Given the description of an element on the screen output the (x, y) to click on. 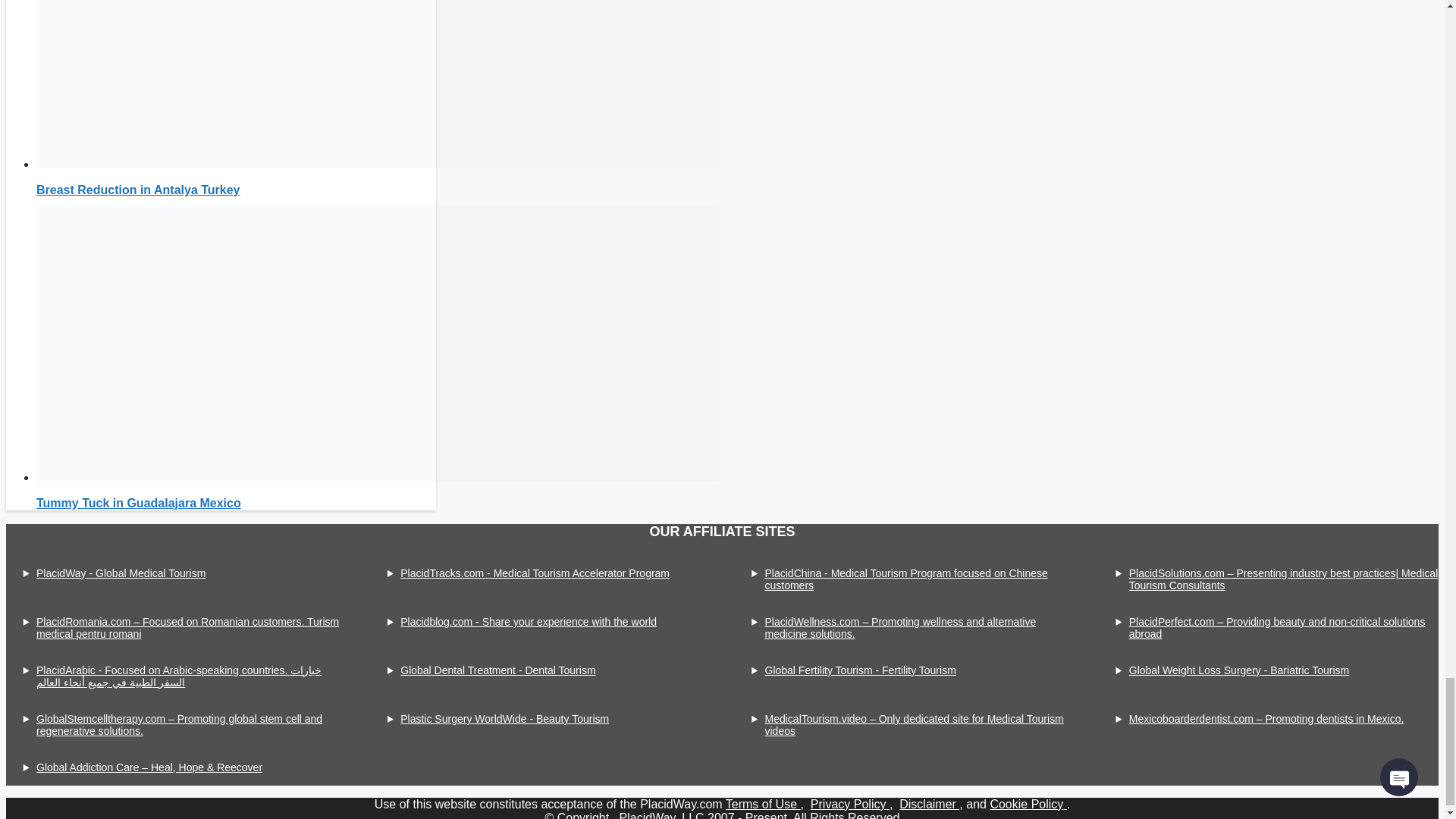
Breast Reduction in Antalya Turkey (138, 189)
Breast Reduction in Antalya Turkey (377, 164)
Tummy Tuck in Guadalajara Mexico (377, 477)
Tummy Tuck in Guadalajara Mexico (138, 502)
